Given the description of an element on the screen output the (x, y) to click on. 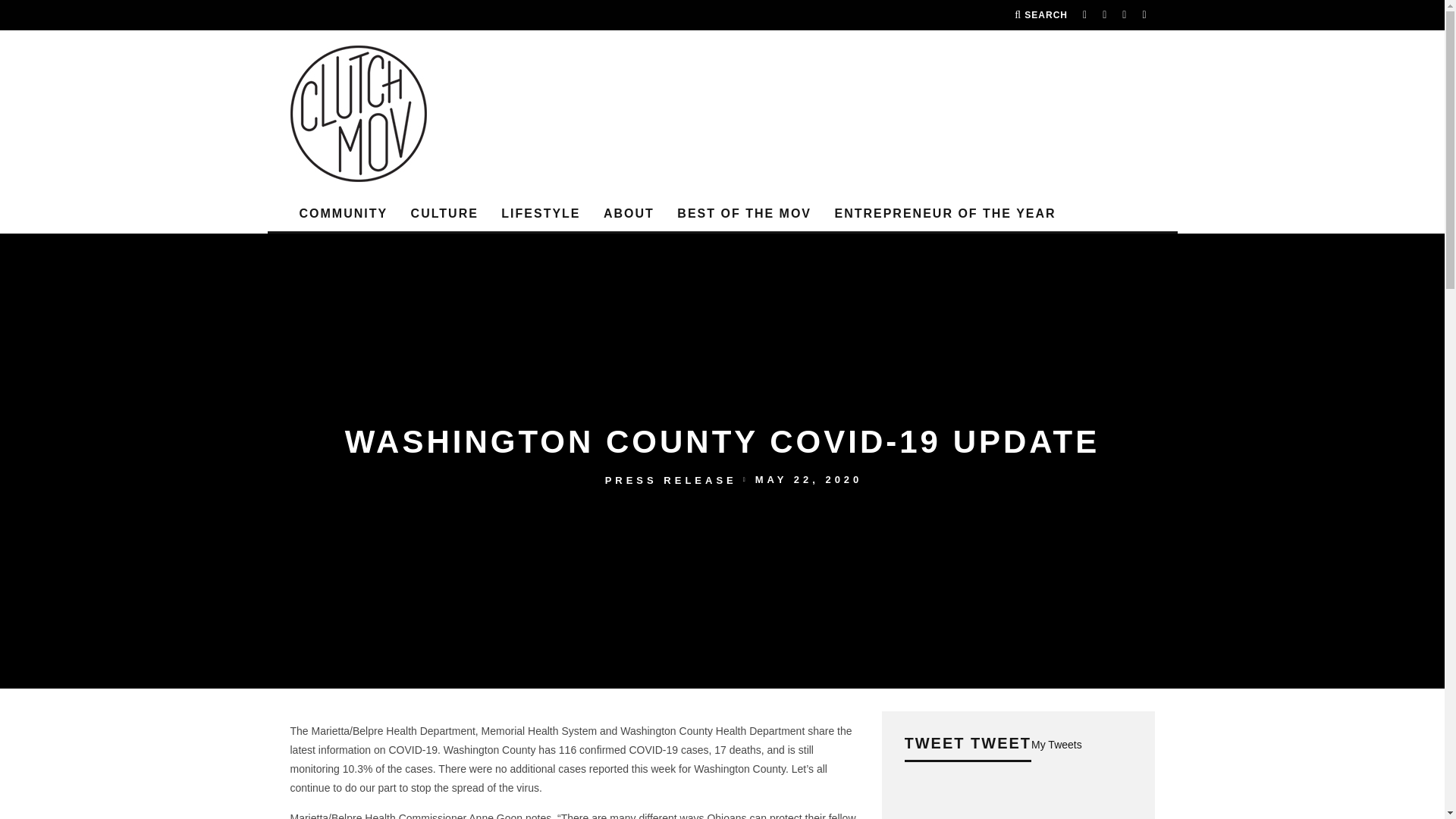
Search (1040, 15)
COMMUNITY (342, 213)
CULTURE (444, 213)
SEARCH (1040, 15)
